Given the description of an element on the screen output the (x, y) to click on. 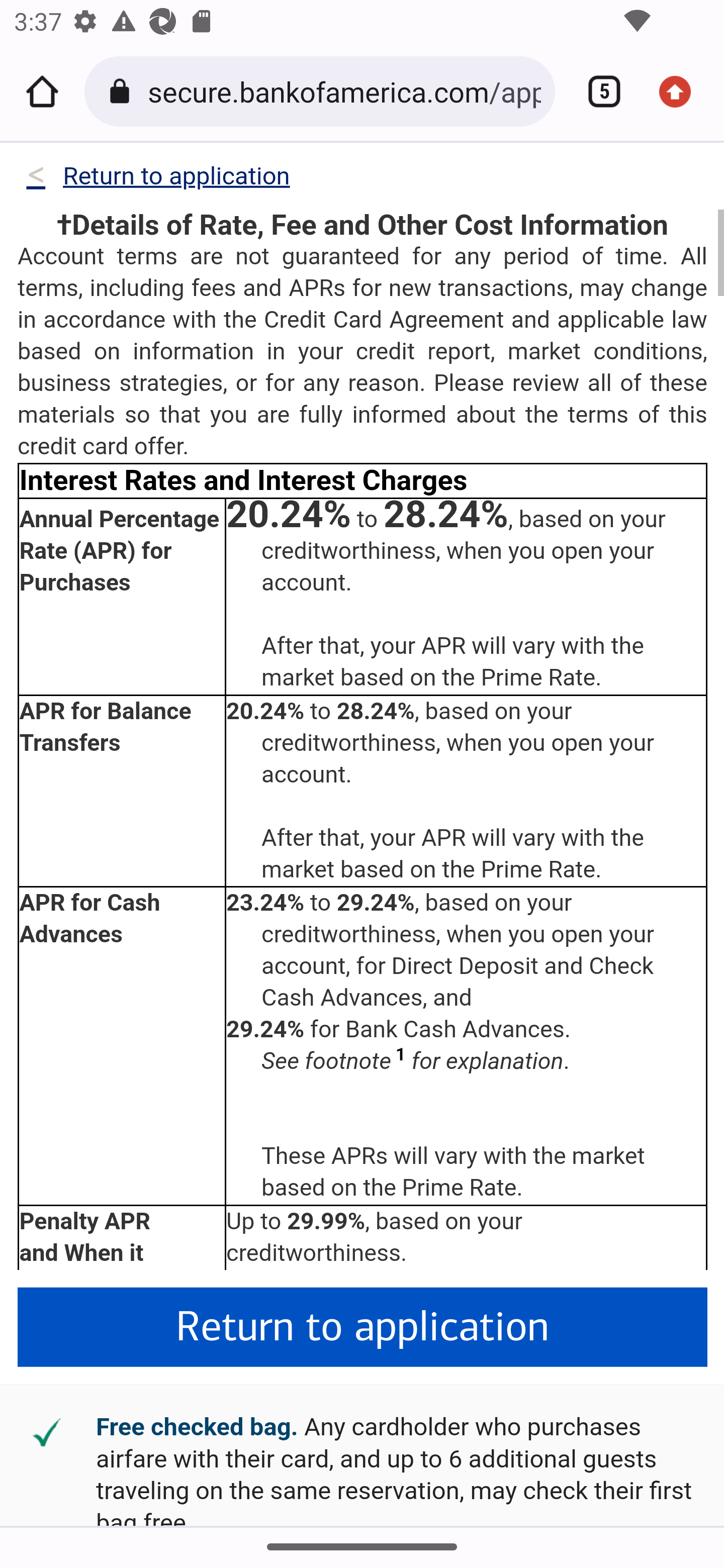
Home (42, 91)
Connection is secure (122, 91)
Switch or close tabs (597, 91)
Update available. More options (681, 91)
<Return to application < Return to application (157, 180)
Return to application (362, 1327)
